Given the description of an element on the screen output the (x, y) to click on. 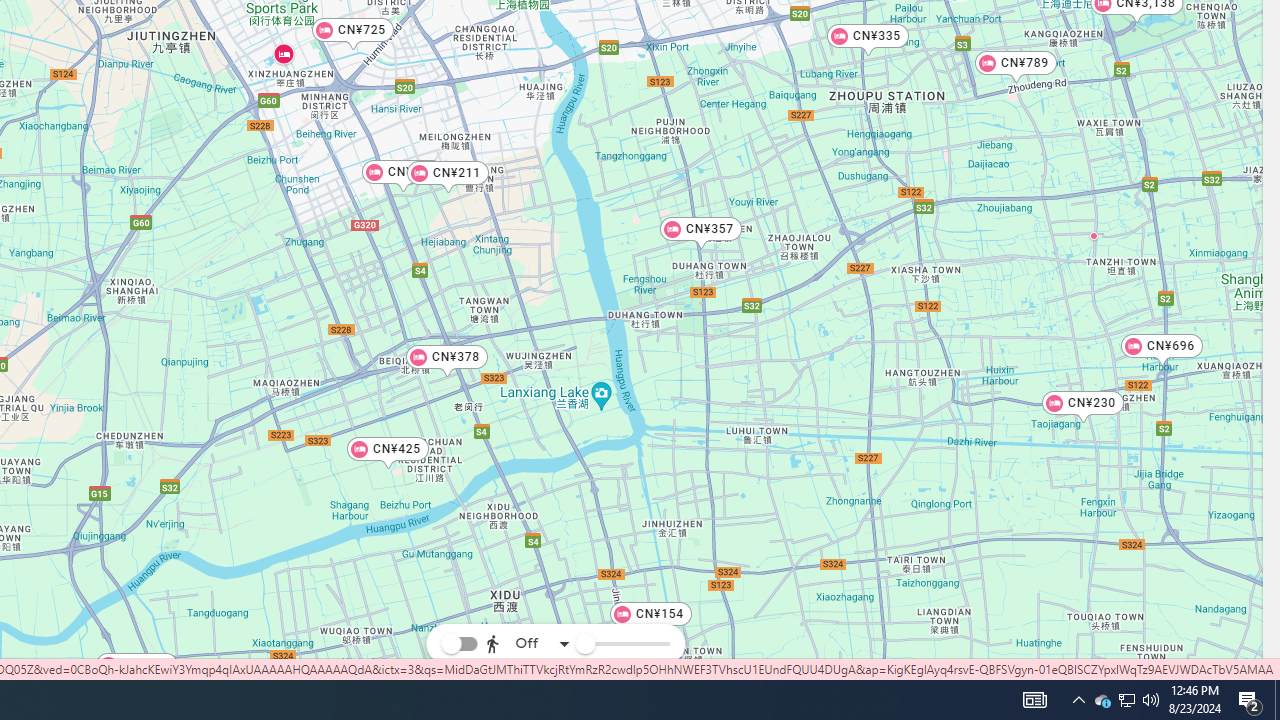
Drive (523, 588)
Toggle reachability layer (459, 643)
Walk (523, 544)
Venus International Hotel Shanghai South Shenjiang Road (1093, 235)
Off (527, 643)
Map Scale: 2 km per 61 pixels (1171, 672)
